Given the description of an element on the screen output the (x, y) to click on. 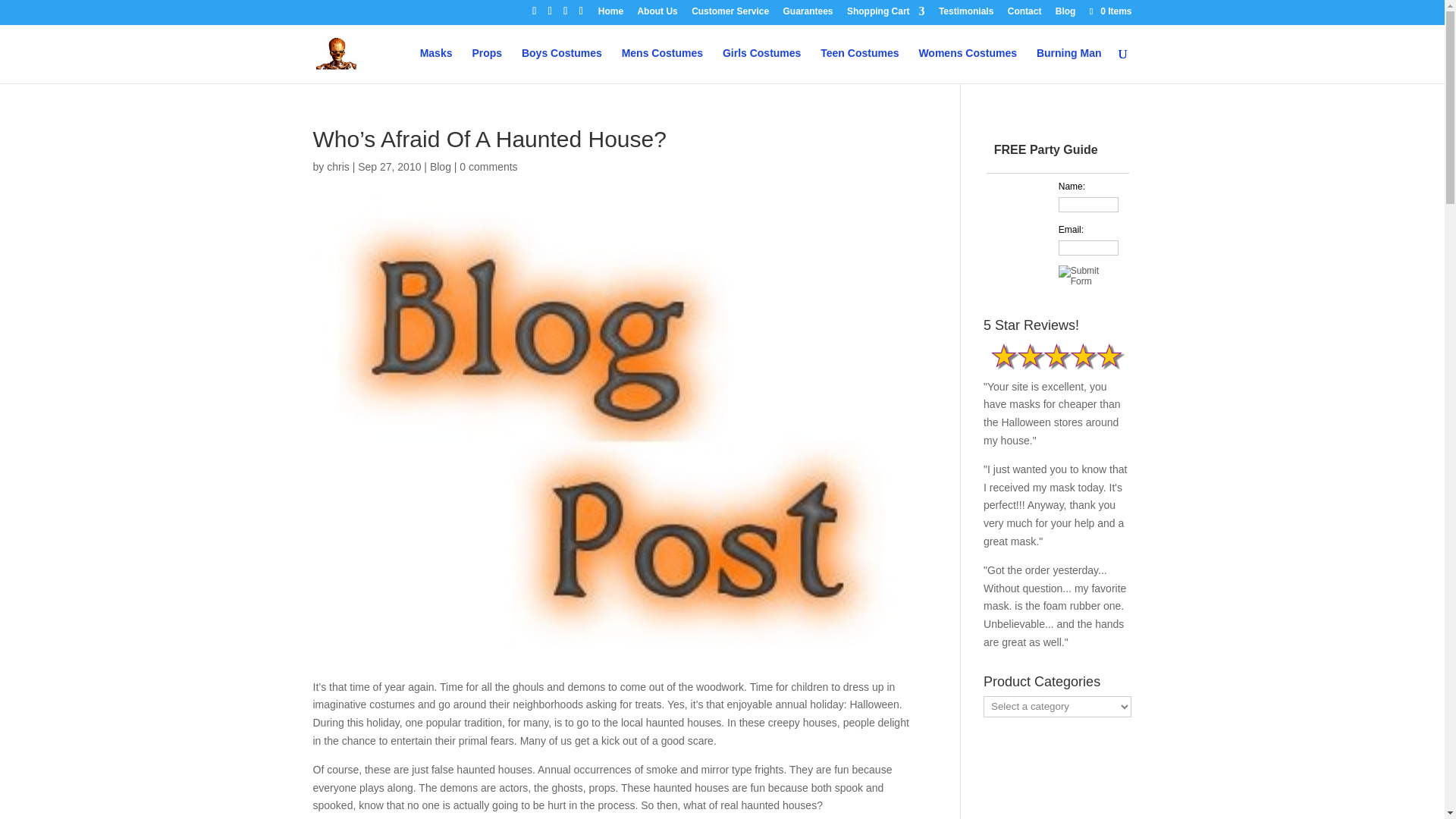
Guarantees (807, 14)
0 comments (488, 166)
Masks (436, 65)
Customer Service (729, 14)
Blog (440, 166)
Womens Costumes (967, 65)
0 Items (1108, 10)
Testimonials (965, 14)
Burning Man (1069, 65)
Girls Costumes (761, 65)
Contact (1024, 14)
chris (337, 166)
Blog (1065, 14)
Shopping Cart (885, 14)
Mens Costumes (662, 65)
